Given the description of an element on the screen output the (x, y) to click on. 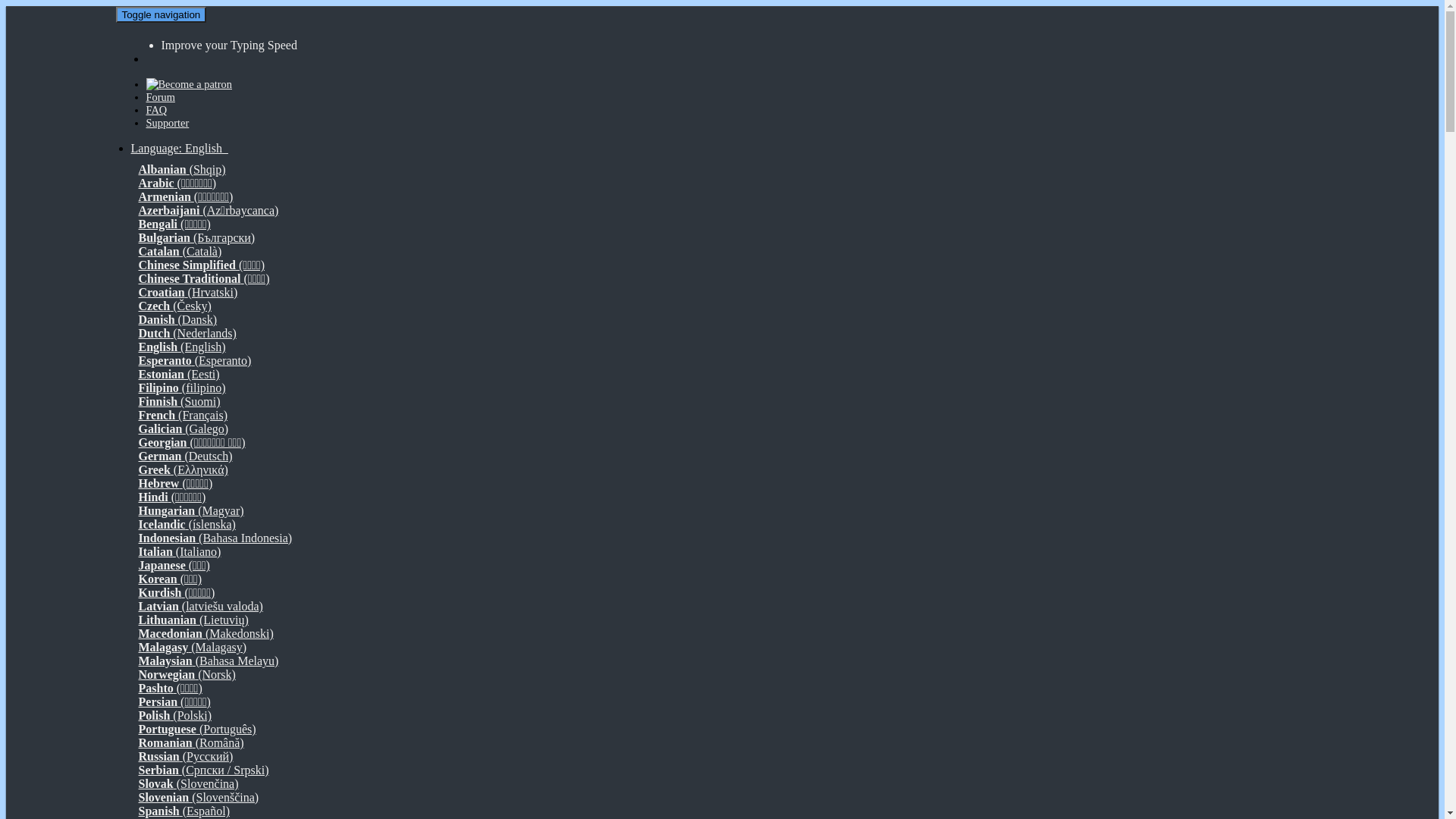
Language: English   Element type: text (178, 145)
FAQ Element type: text (155, 112)
Finnish (Suomi) Element type: text (178, 398)
Estonian (Eesti) Element type: text (178, 371)
Esperanto (Esperanto) Element type: text (194, 358)
Galician (Galego) Element type: text (183, 426)
Forum Element type: text (159, 100)
Supporter Element type: text (166, 125)
Macedonian (Makedonski) Element type: text (205, 631)
Norwegian (Norsk) Element type: text (186, 671)
Hungarian (Magyar) Element type: text (190, 508)
Filipino (filipino) Element type: text (181, 385)
Danish (Dansk) Element type: text (177, 317)
Toggle navigation Element type: text (160, 14)
Italian (Italiano) Element type: text (179, 549)
English (English) Element type: text (181, 344)
Indonesian (Bahasa Indonesia) Element type: text (214, 535)
German (Deutsch) Element type: text (185, 453)
Polish (Polski) Element type: text (174, 712)
Malaysian (Bahasa Melayu) Element type: text (208, 658)
Albanian (Shqip) Element type: text (181, 166)
Croatian (Hrvatski) Element type: text (187, 289)
Dutch (Nederlands) Element type: text (186, 330)
Malagasy (Malagasy) Element type: text (192, 644)
